Given the description of an element on the screen output the (x, y) to click on. 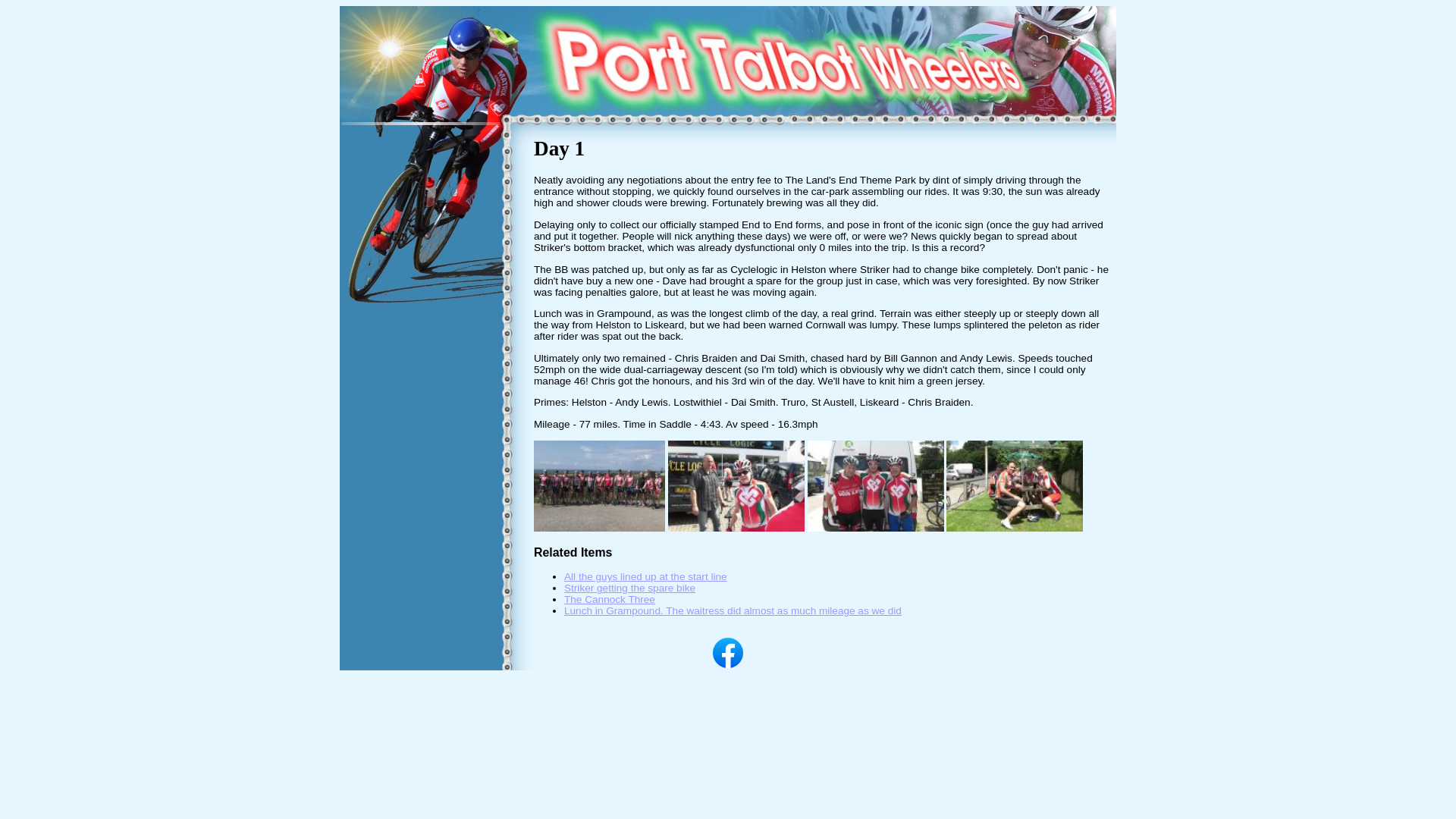
All the guys lined up at the start line (599, 527)
Striker getting the spare bike (736, 527)
Striker getting the spare bike (629, 587)
The Cannock Three (609, 599)
The Cannock Three (875, 527)
All the guys lined up at the start line (645, 576)
